Given the description of an element on the screen output the (x, y) to click on. 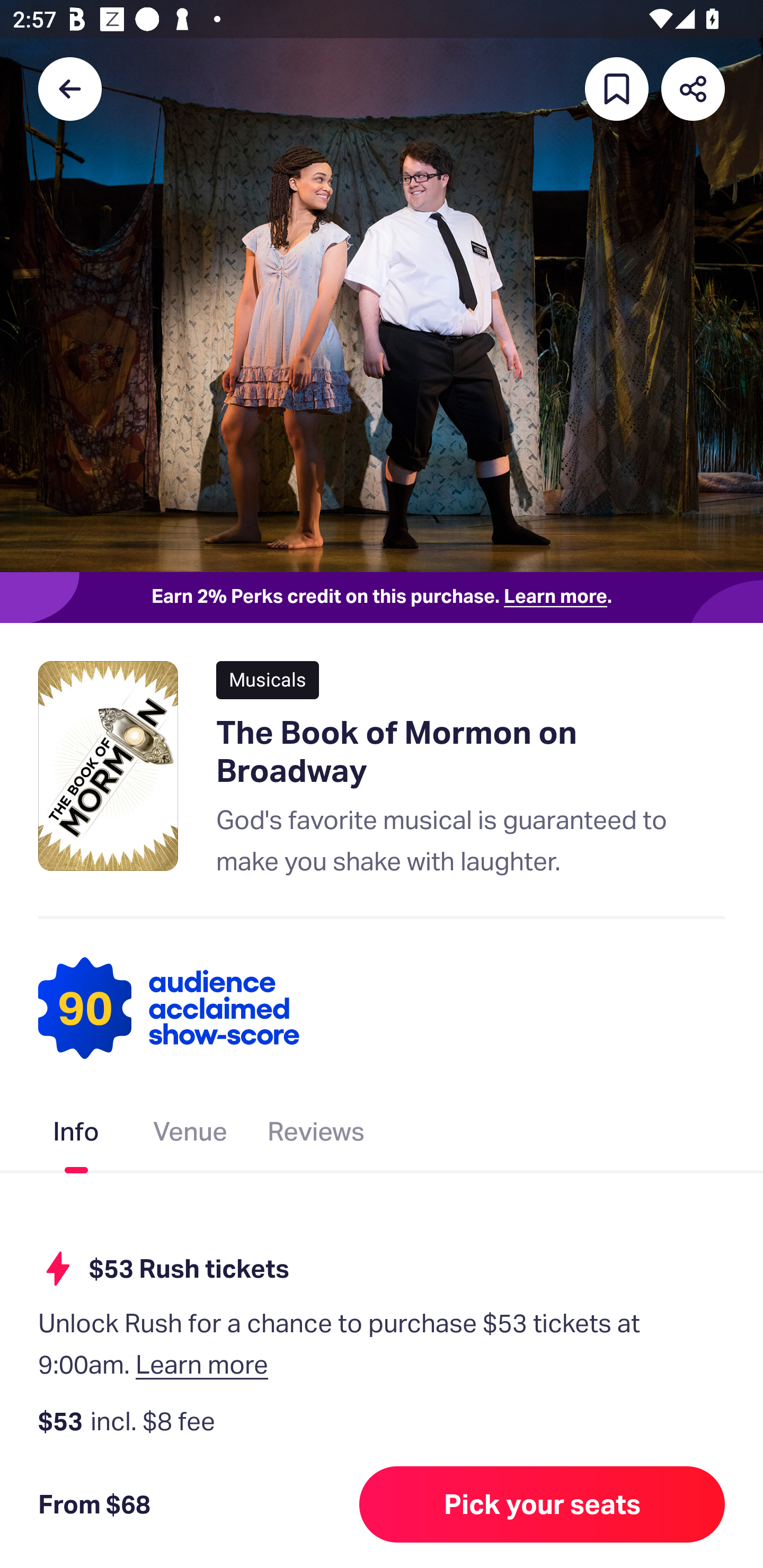
Earn 2% Perks credit on this purchase. Learn more. (381, 597)
Venue (190, 1134)
Reviews (315, 1134)
Pick your seats (541, 1504)
